Given the description of an element on the screen output the (x, y) to click on. 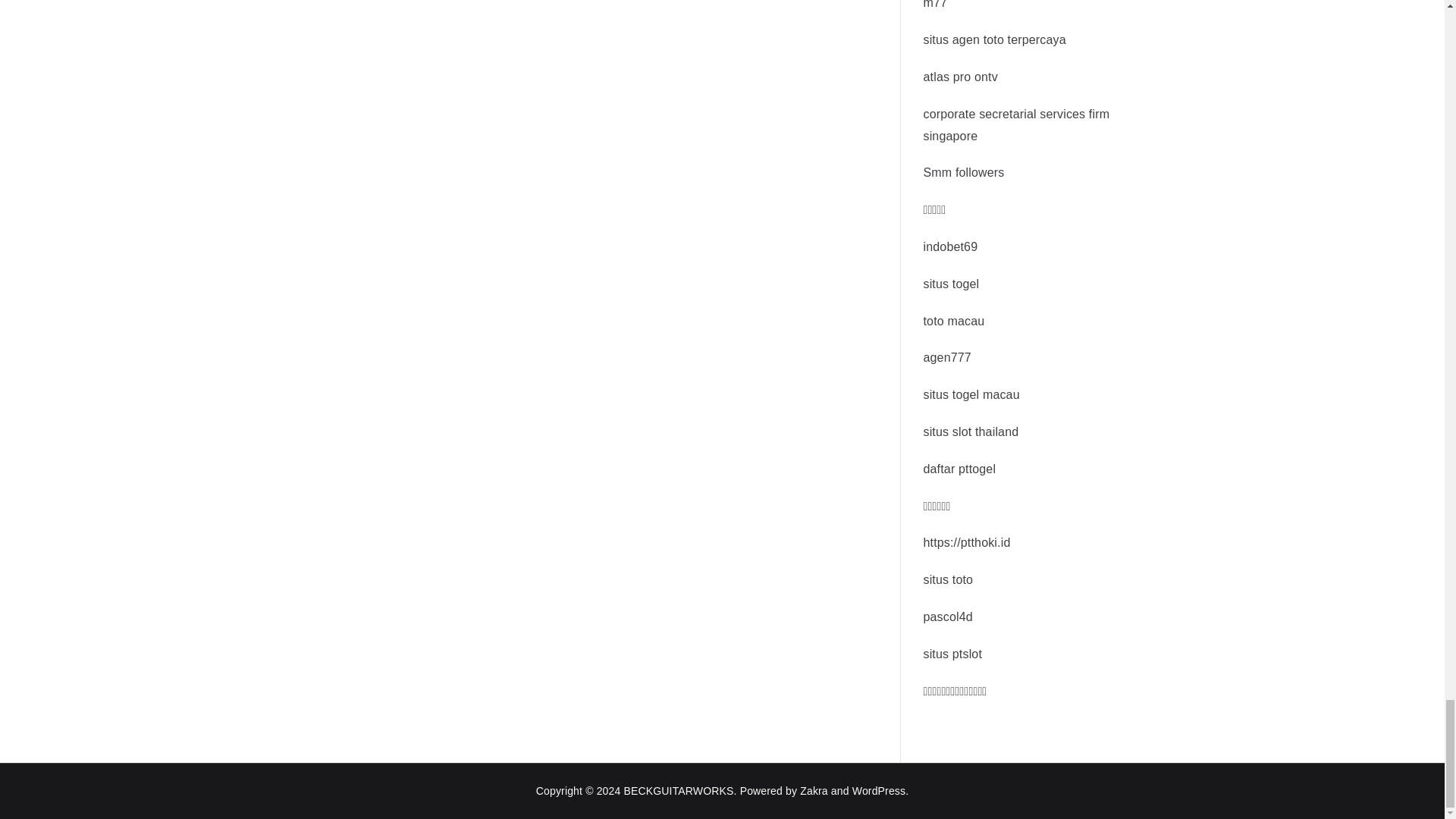
Zakra (813, 790)
BECKGUITARWORKS (678, 790)
WordPress (878, 790)
